Given the description of an element on the screen output the (x, y) to click on. 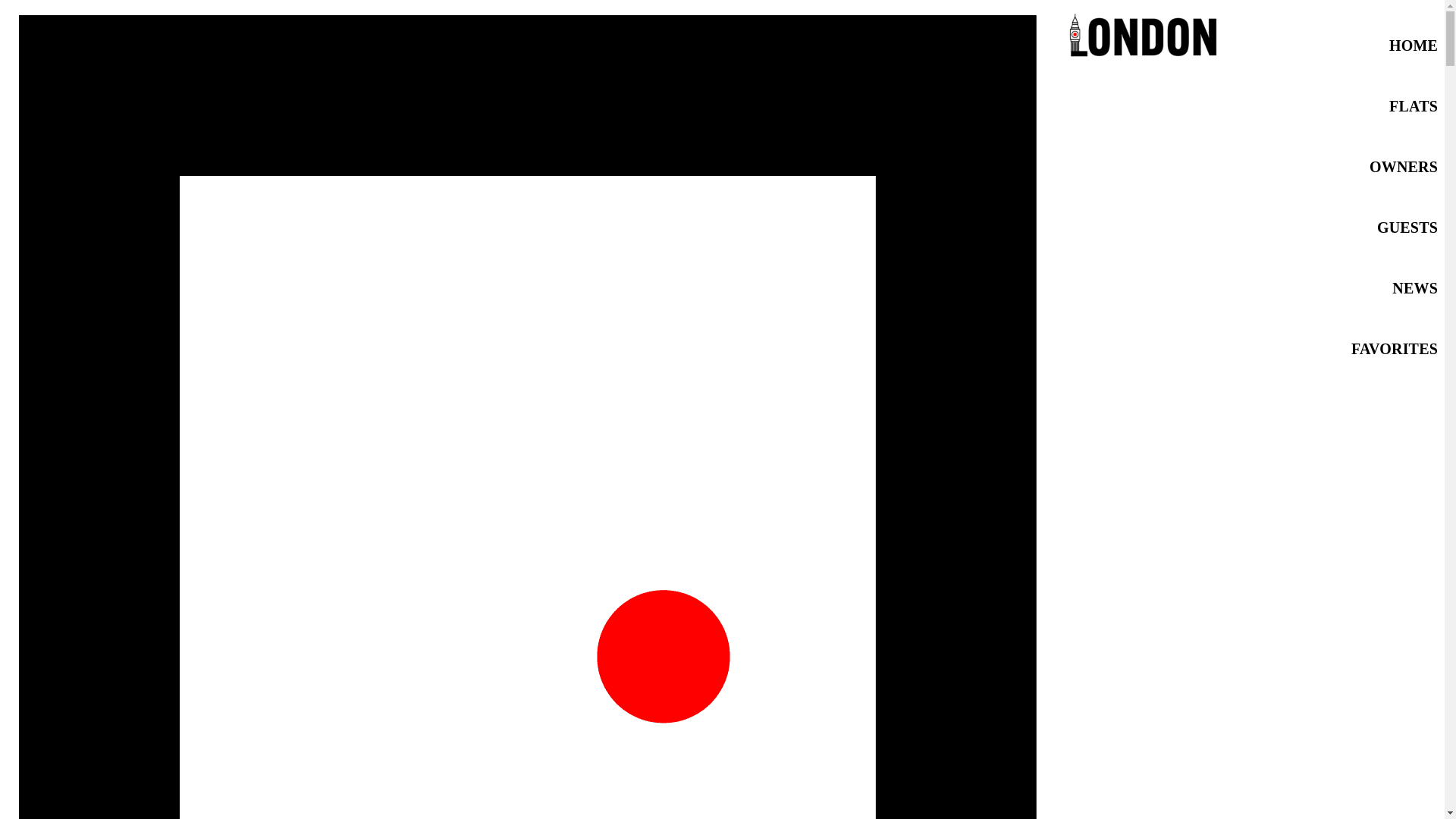
GUESTS (1407, 227)
FLATS (1413, 106)
OWNERS (1403, 166)
HOME (1413, 45)
